Given the description of an element on the screen output the (x, y) to click on. 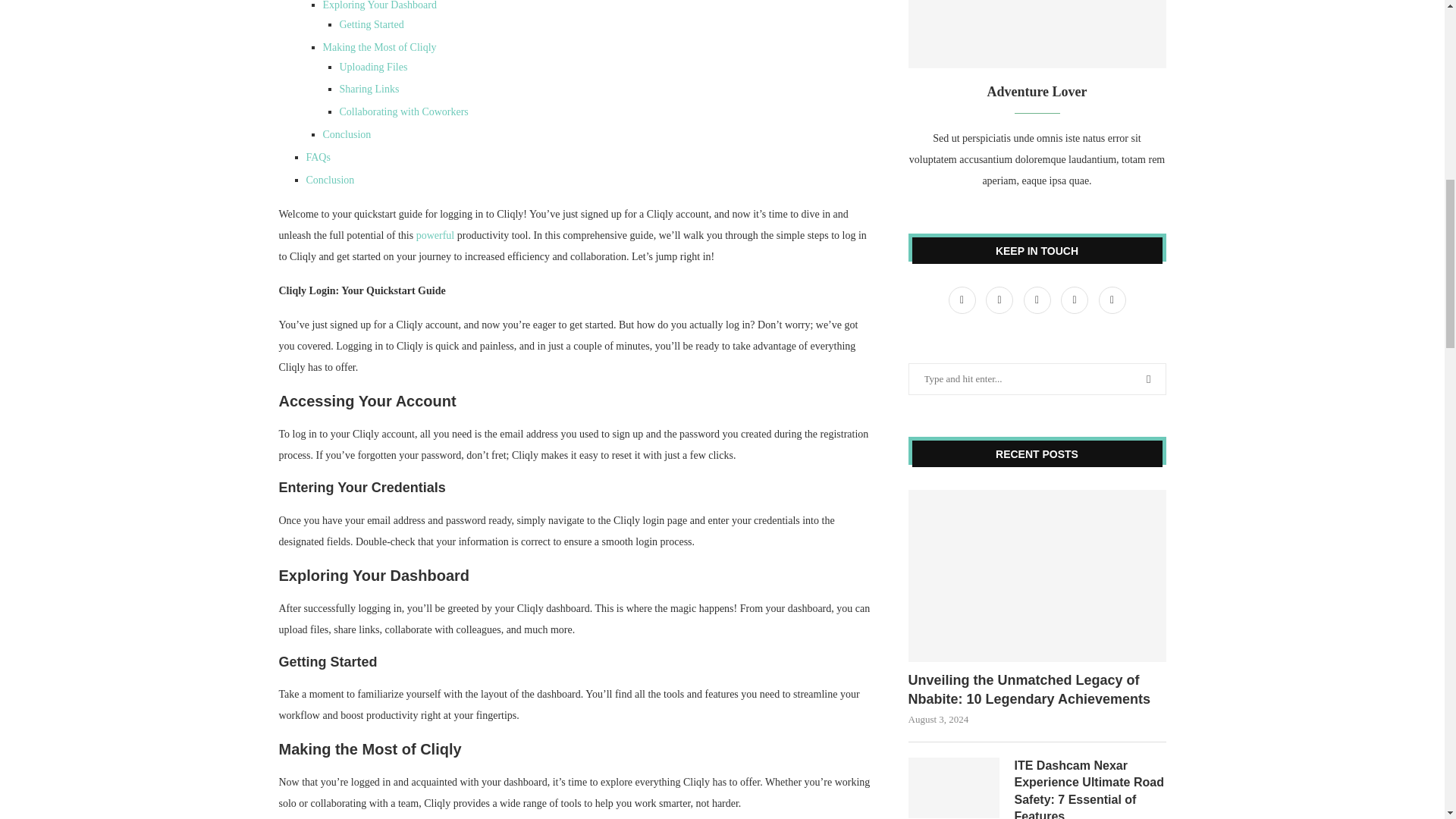
Making the Most of Cliqly (379, 47)
FAQs (317, 156)
FAQs (317, 156)
Conclusion (330, 179)
Getting Started (371, 24)
Uploading Files (373, 66)
Exploring Your Dashboard (380, 5)
Making the Most of Cliqly (379, 47)
Sharing Links (368, 89)
powerful (433, 235)
Uploading Files (373, 66)
Collaborating with Coworkers (403, 111)
Conclusion (347, 134)
Getting Started (371, 24)
Sharing Links (368, 89)
